Given the description of an element on the screen output the (x, y) to click on. 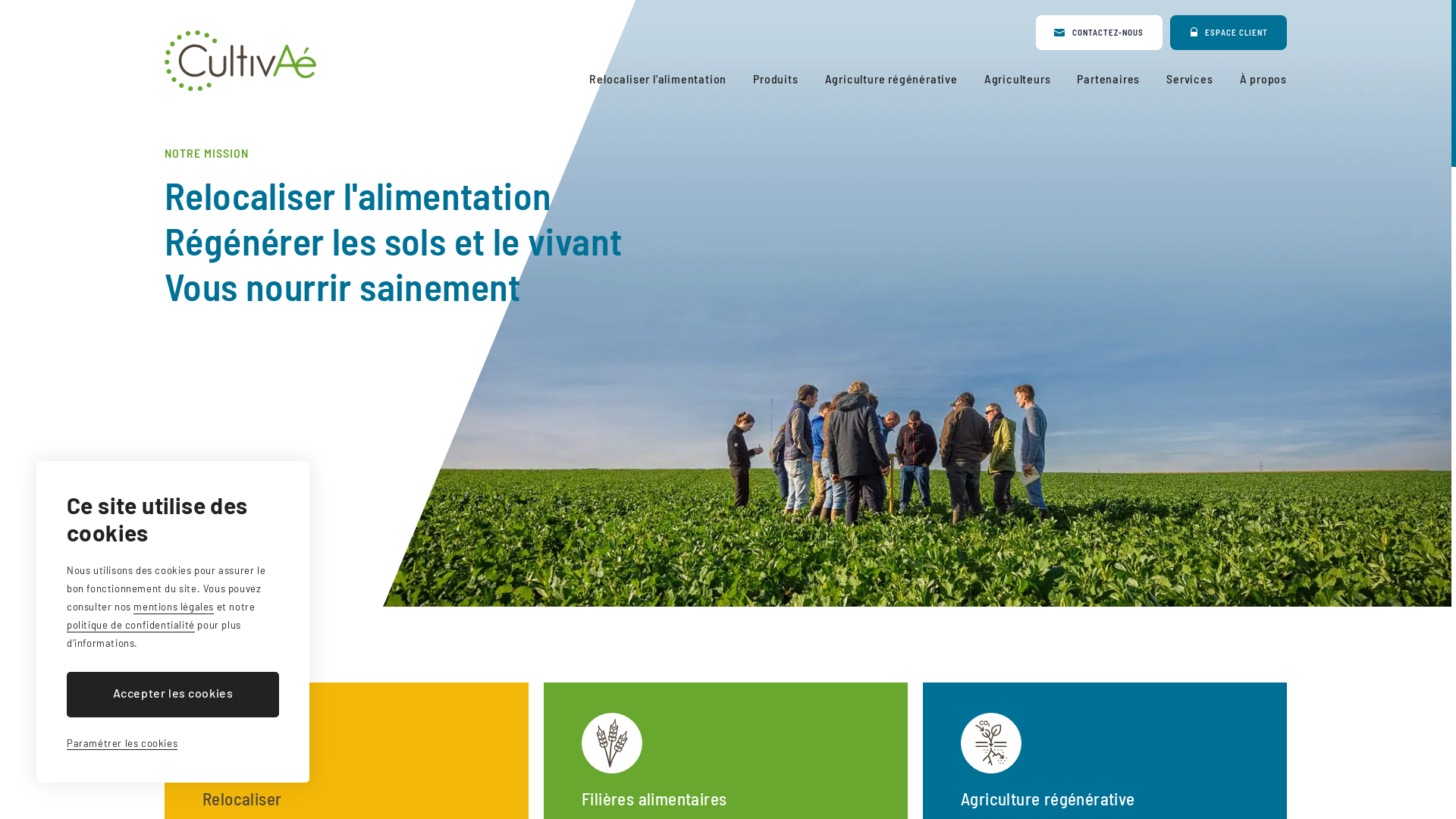
Partenaires Element type: text (1107, 78)
Services Element type: text (1189, 78)
ESPACE CLIENT Element type: text (1228, 32)
CONTACTEZ-NOUS Element type: text (1098, 32)
Agriculteurs Element type: text (1017, 78)
Relocaliser l'alimentation Element type: text (657, 78)
Produits Element type: text (775, 78)
